Given the description of an element on the screen output the (x, y) to click on. 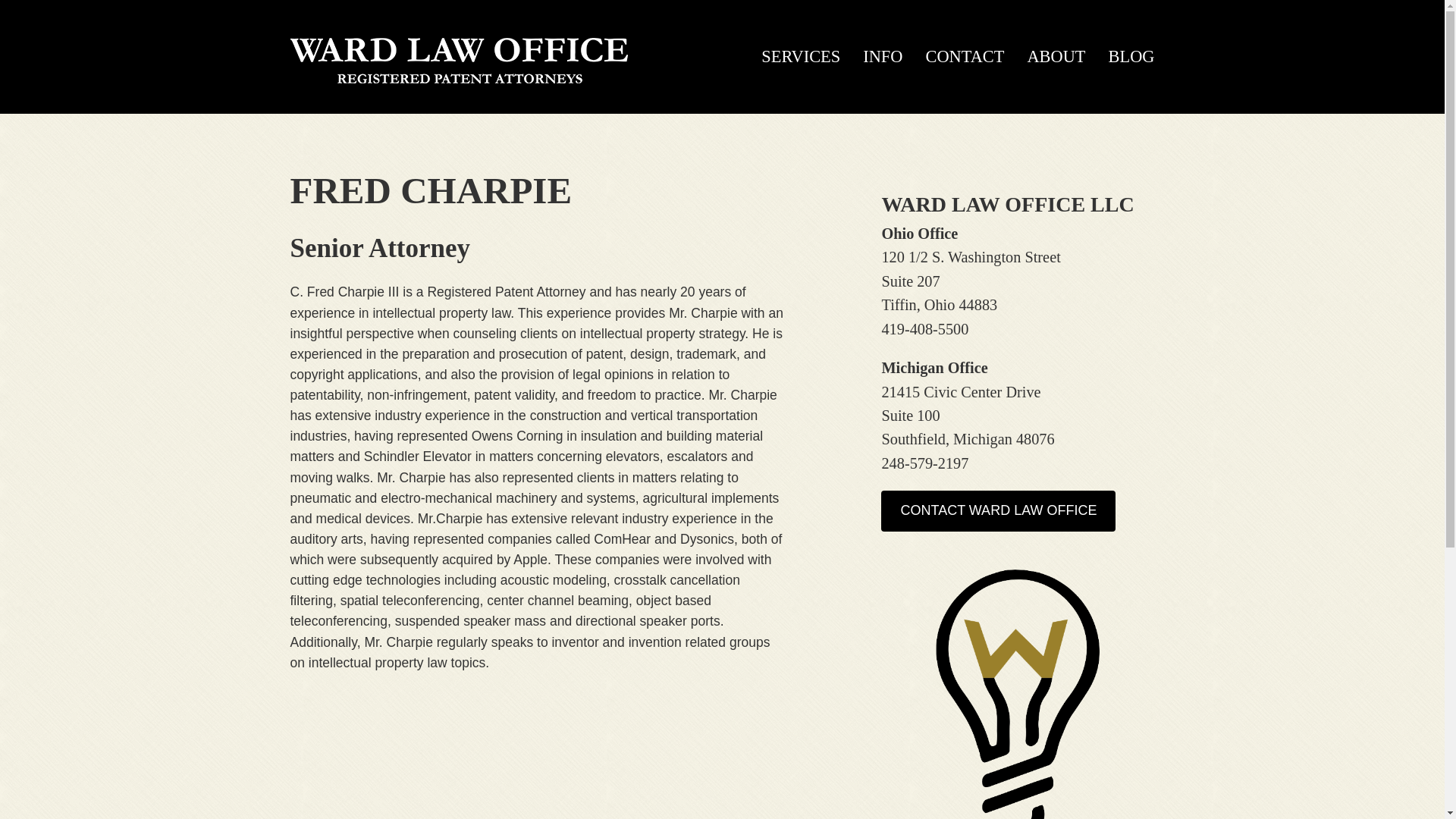
SERVICES (800, 56)
CONTACT WARD LAW OFFICE (997, 510)
CONTACT (964, 56)
